Given the description of an element on the screen output the (x, y) to click on. 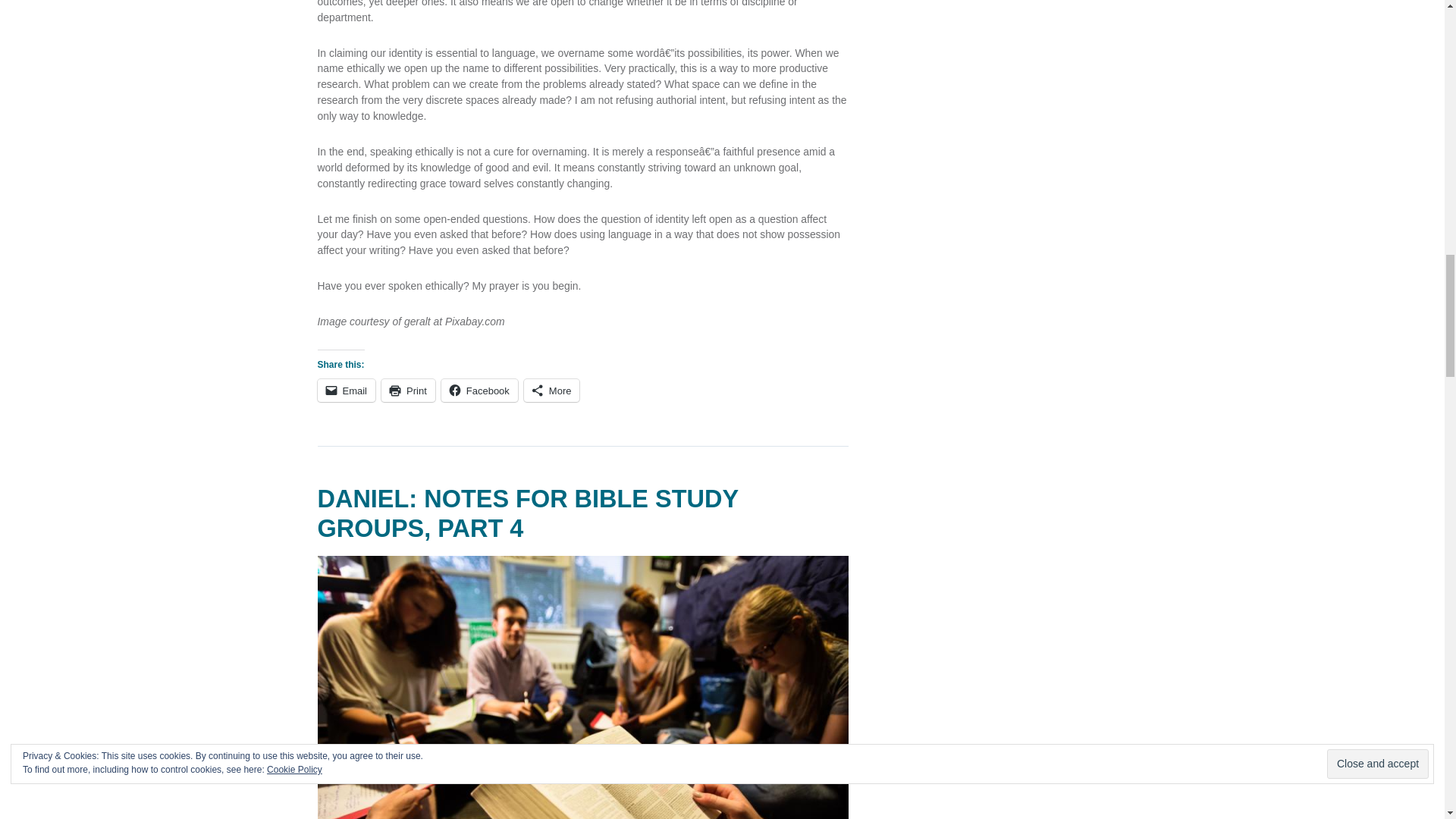
Email (346, 390)
Click to email a link to a friend (346, 390)
DANIEL: NOTES FOR BIBLE STUDY GROUPS, PART 4 (527, 513)
Click to print (408, 390)
More (551, 390)
Print (408, 390)
Facebook (479, 390)
Click to share on Facebook (479, 390)
